Given the description of an element on the screen output the (x, y) to click on. 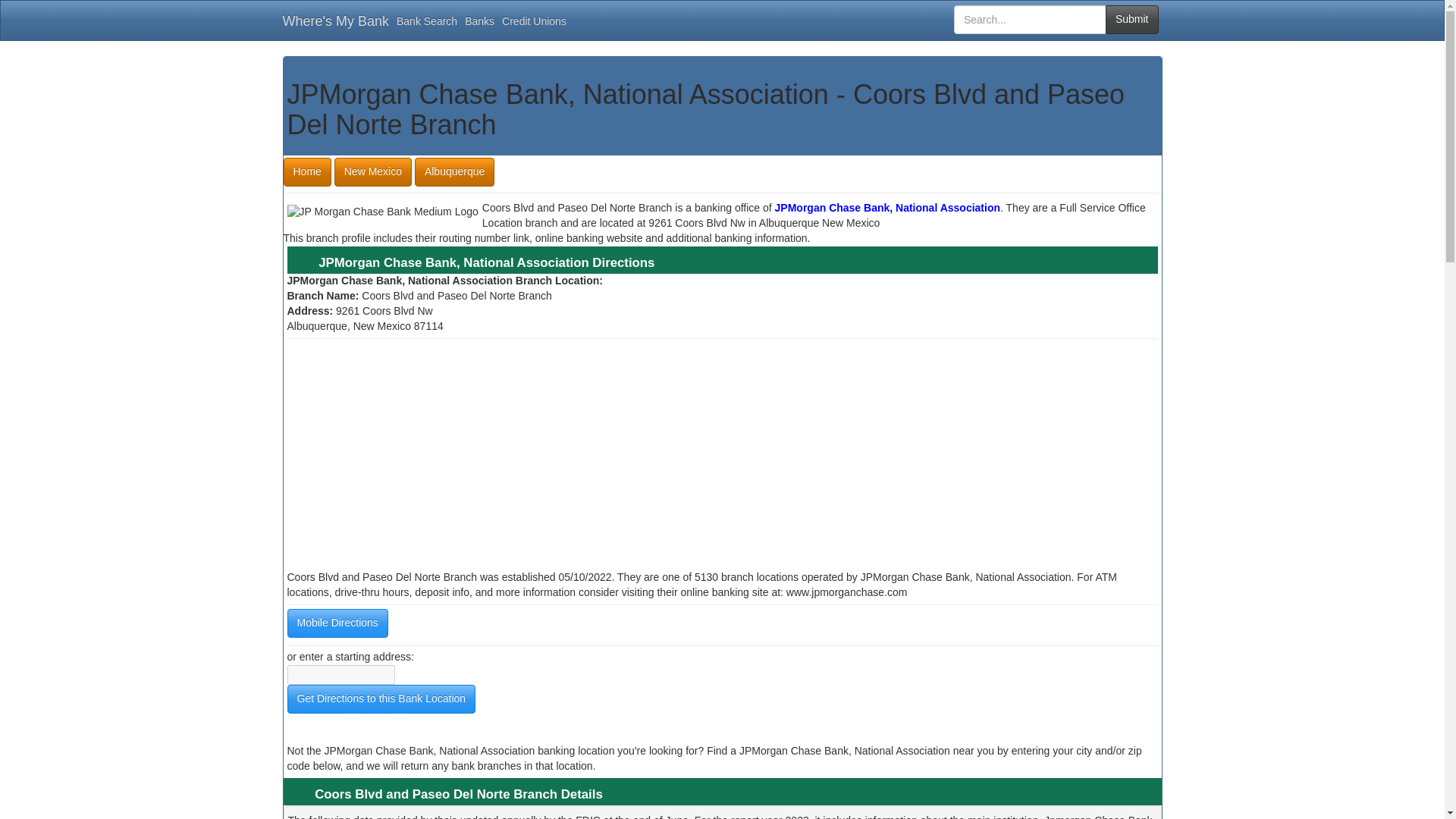
New Mexico (373, 172)
Mobile Directions (336, 623)
Home (307, 172)
Submit (1131, 19)
JPMorgan Chase Bank, National Association (887, 207)
Get Directions to this Bank Location (381, 698)
Get Directions to this Bank Location (381, 698)
Banks in New Mexico (373, 172)
Mobile Directions (336, 623)
Where's My Bank (336, 21)
Banks (479, 19)
Albuquerque (454, 172)
Where's My Bank Branch Locator Home (307, 172)
Credit Unions (533, 19)
Bank Search (427, 19)
